Given the description of an element on the screen output the (x, y) to click on. 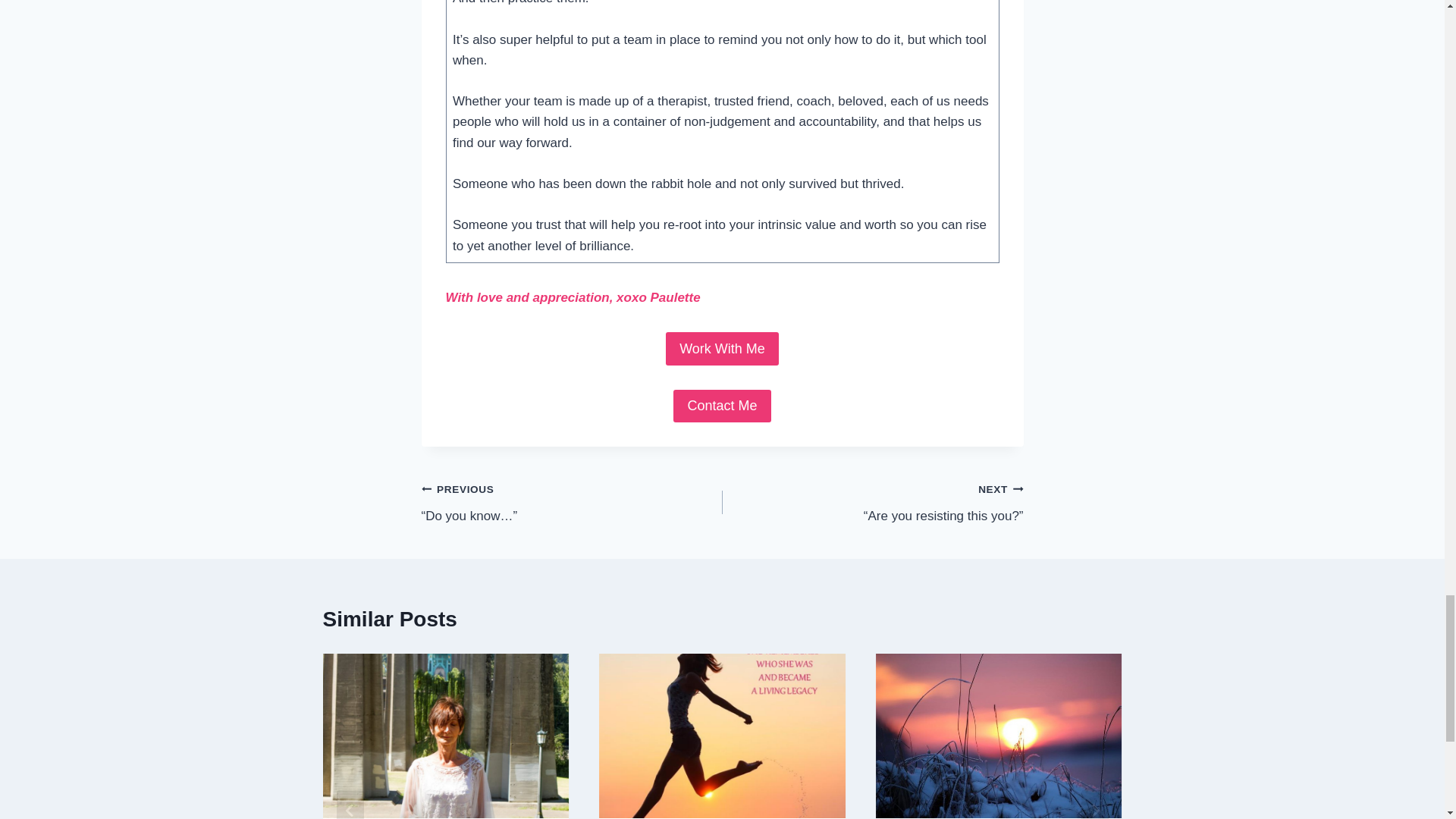
Contact Me (721, 405)
Work With Me (721, 348)
